Given the description of an element on the screen output the (x, y) to click on. 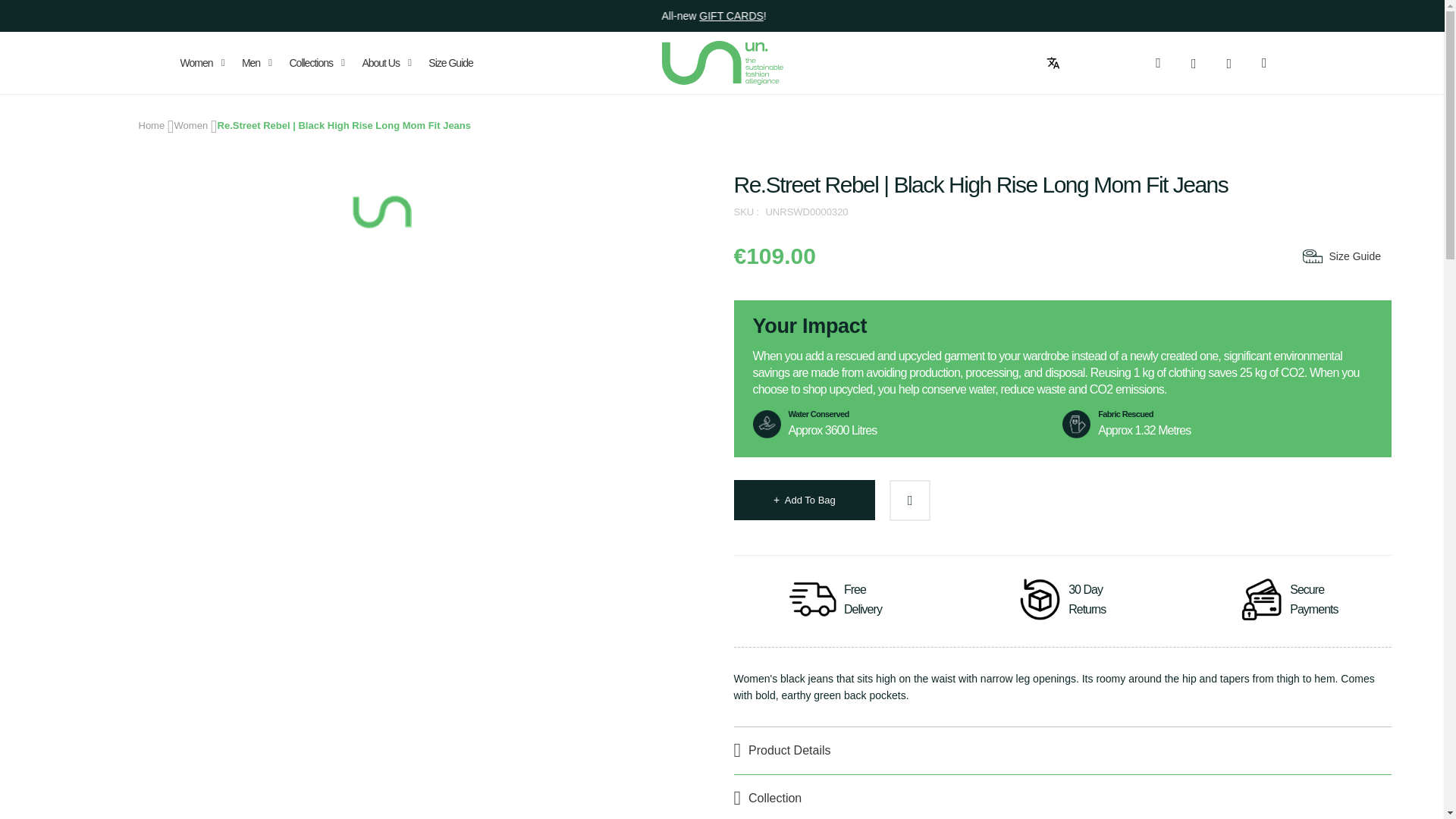
add to bag (804, 499)
Men (256, 62)
Size Guide (450, 62)
About Us (386, 62)
Home (151, 125)
Women (191, 125)
Add to Wishlist (909, 499)
Go to Home Page (151, 125)
Size Guide (1340, 256)
Collections (316, 62)
